Given the description of an element on the screen output the (x, y) to click on. 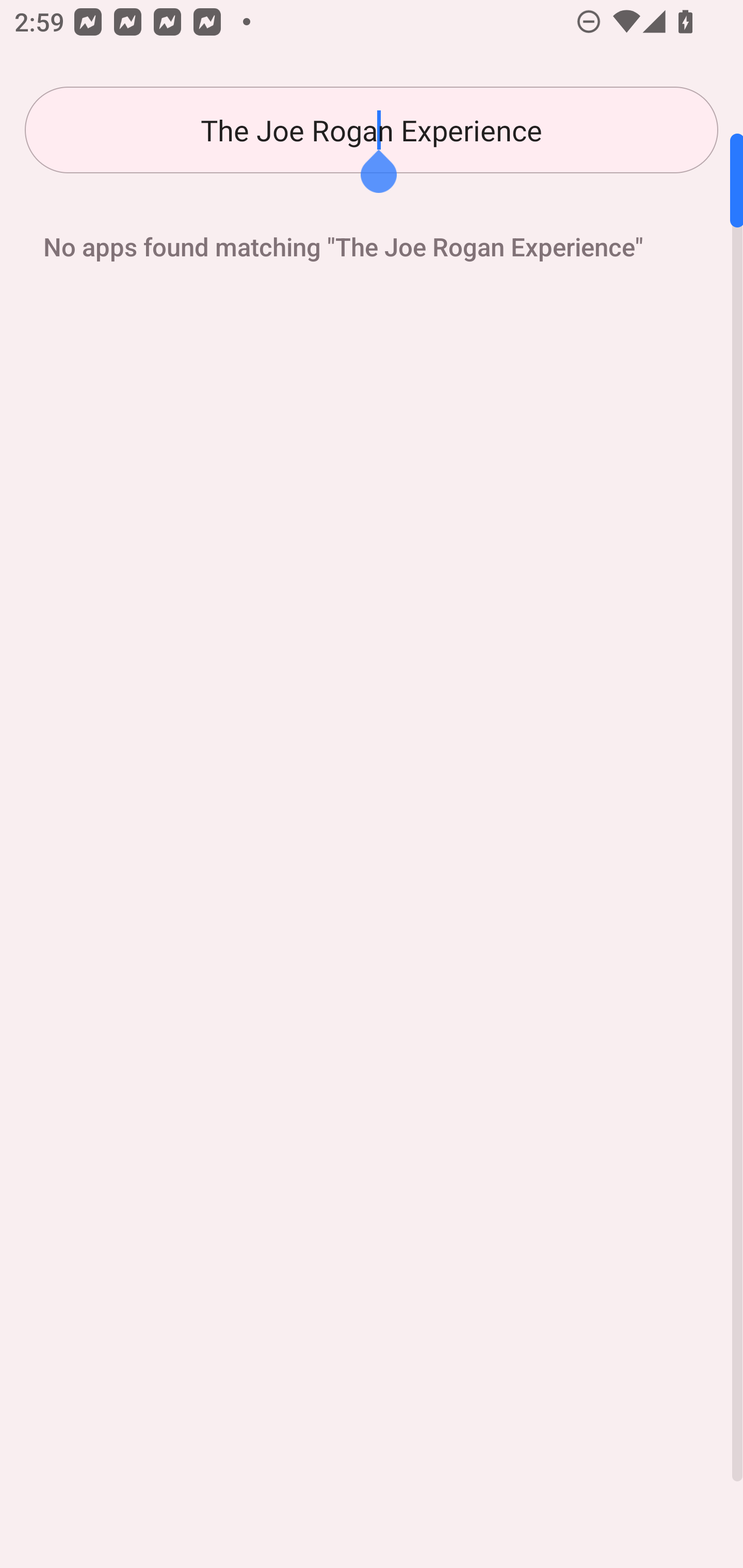
The Joe Rogan Experience (371, 130)
